Given the description of an element on the screen output the (x, y) to click on. 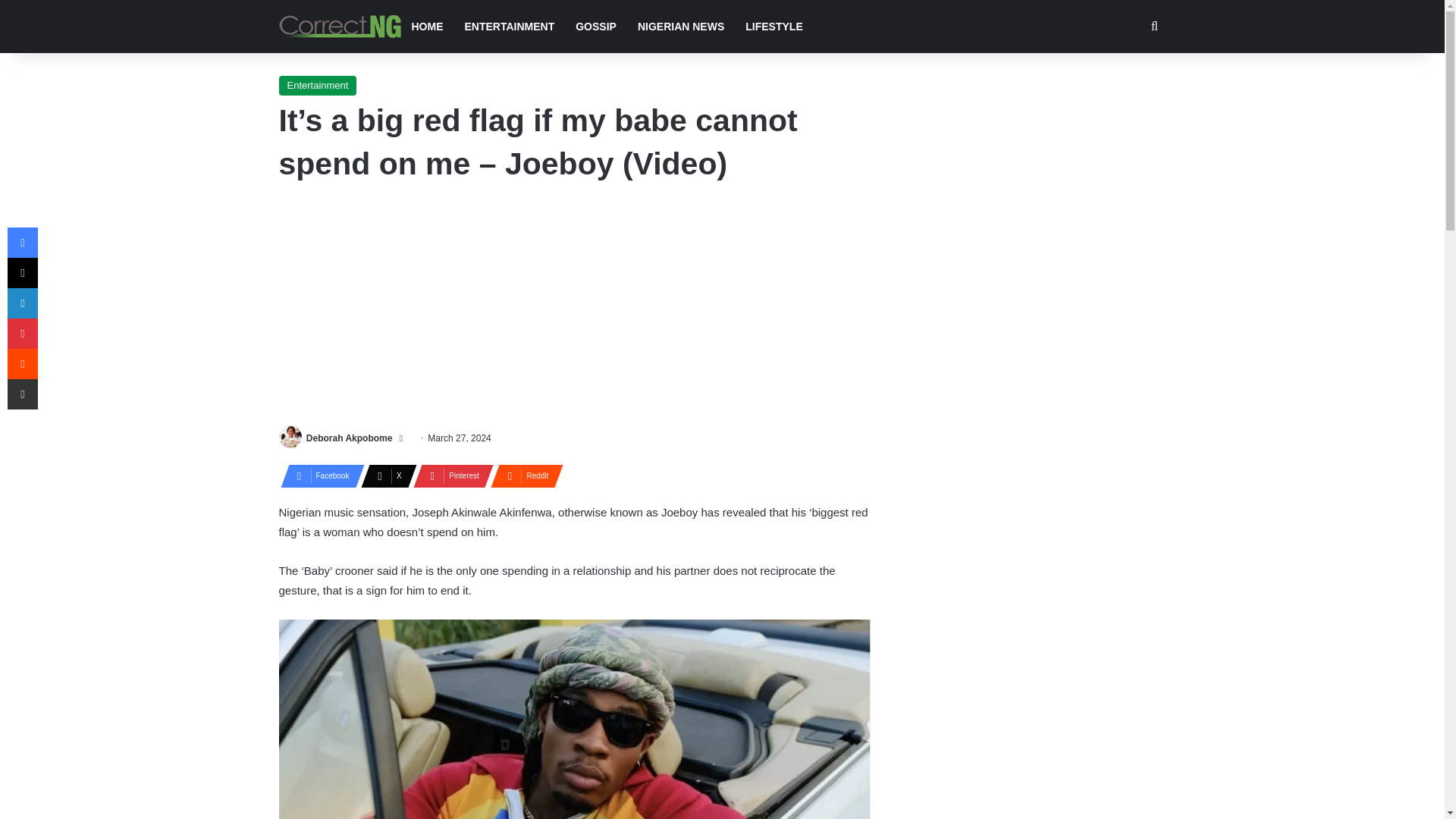
LIFESTYLE (773, 26)
Reddit (522, 476)
Pinterest (448, 476)
Entertainment (317, 85)
Pinterest (448, 476)
X (384, 476)
Deborah Akpobome (349, 438)
NIGERIAN NEWS (681, 26)
Deborah Akpobome (349, 438)
CorrectNG (340, 26)
Advertisement (574, 307)
Reddit (522, 476)
X (384, 476)
Facebook (318, 476)
GOSSIP (595, 26)
